Given the description of an element on the screen output the (x, y) to click on. 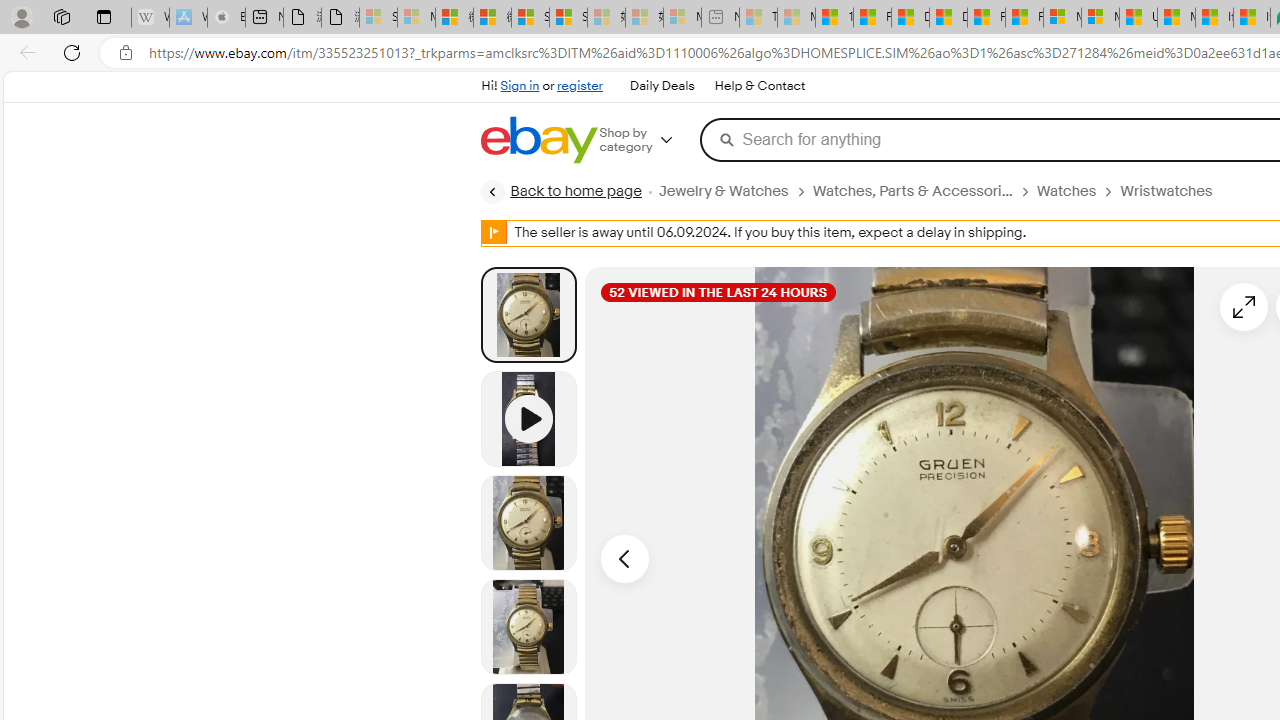
Video 1 of 1 (528, 418)
Daily Deals (662, 86)
Help & Contact (758, 85)
Marine life - MSN - Sleeping (796, 17)
Sign in (520, 85)
Shop by category (649, 140)
Wristwatches (1174, 191)
register (579, 85)
Back to home page (561, 191)
